Given the description of an element on the screen output the (x, y) to click on. 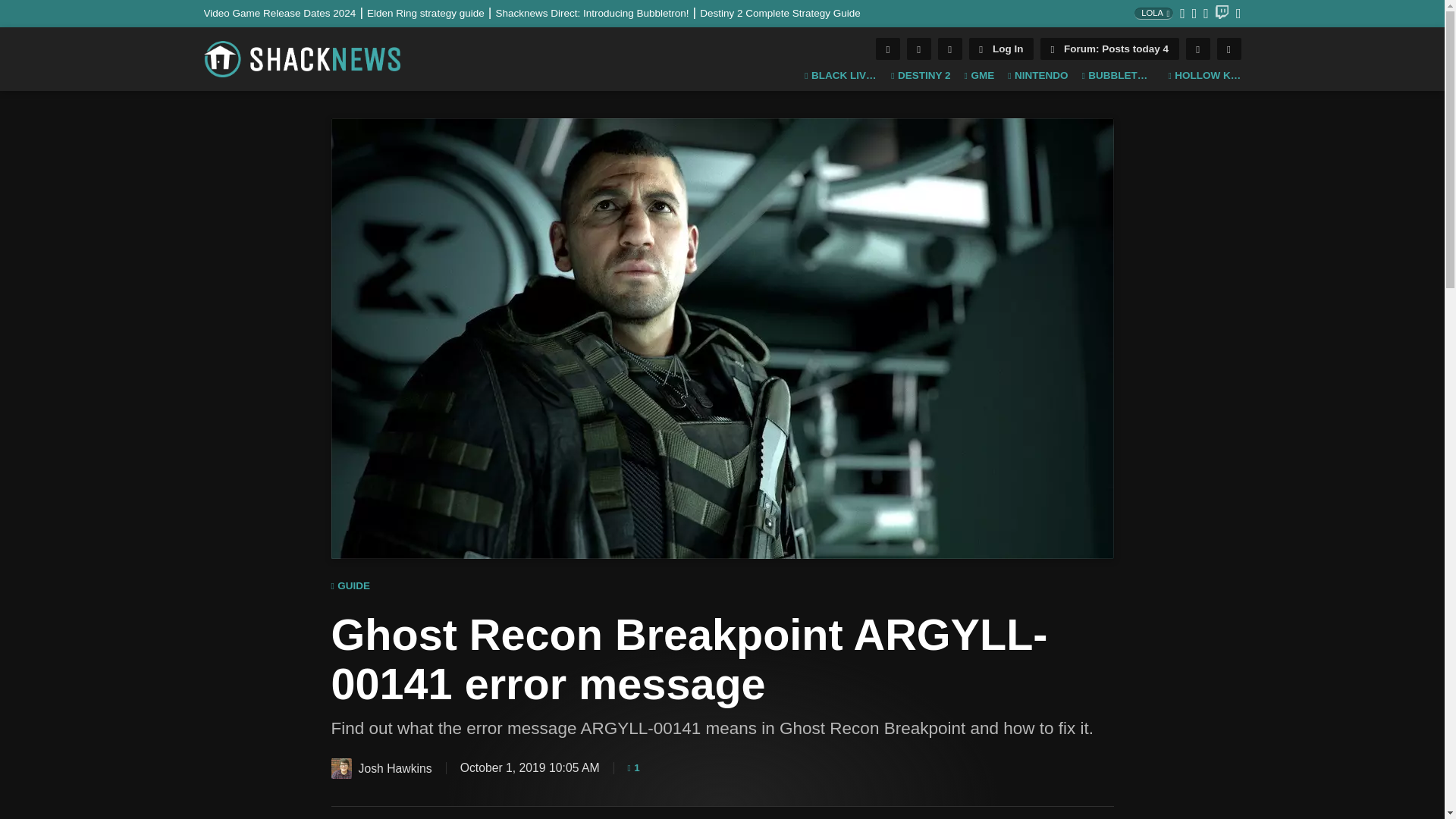
NINTENDO (1037, 75)
BUBBLETRON (1117, 75)
Elden Ring strategy guide (430, 11)
Shacknews Direct: Introducing Bubbletron! (597, 11)
GME (978, 75)
Destiny 2 Complete Strategy Guide (780, 11)
GUIDE (349, 586)
Josh Hawkins (340, 768)
Video Game Release Dates 2024 (284, 11)
DESTINY 2 (920, 75)
HOLLOW KNIGHT: SILKSONG (1203, 75)
BLACK LIVES MATTER (841, 75)
